Given the description of an element on the screen output the (x, y) to click on. 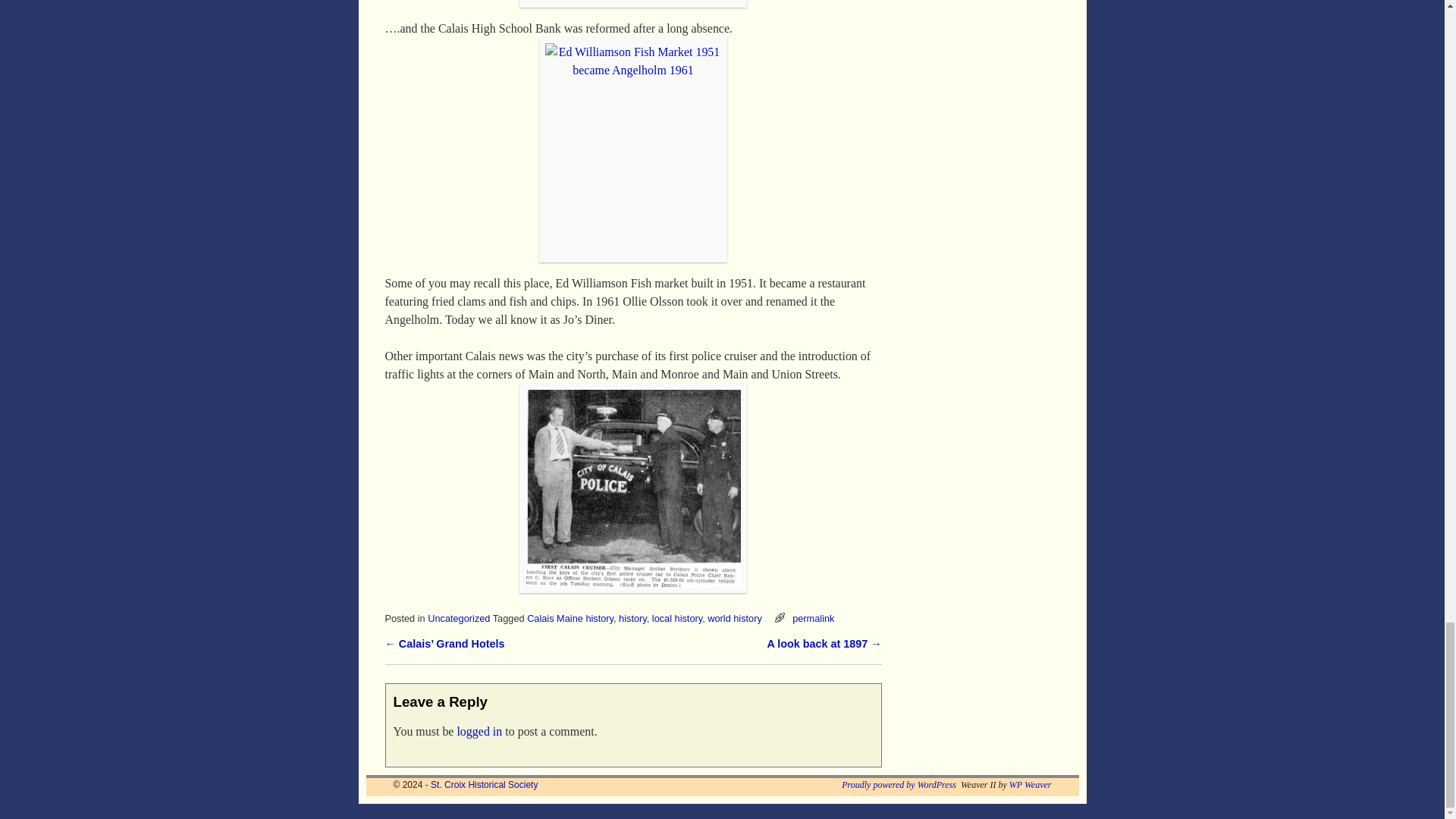
history (632, 618)
wordpress.org (898, 784)
local history (676, 618)
Permalink to A look back at 1951 (813, 618)
Calais Maine history (569, 618)
St. Croix Historical Society (483, 784)
Uncategorized (458, 618)
permalink (813, 618)
world history (734, 618)
